Given the description of an element on the screen output the (x, y) to click on. 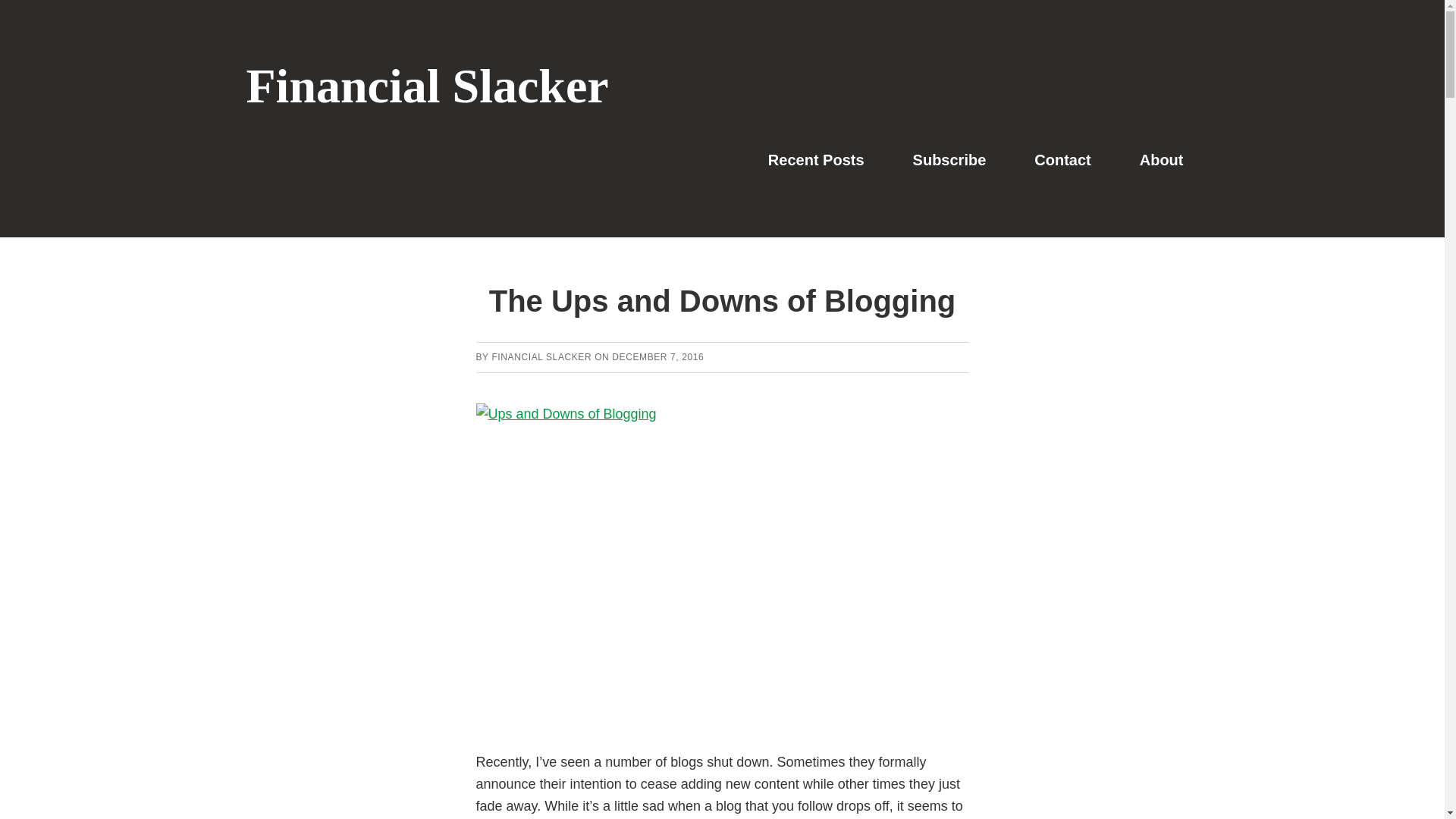
Recent Posts (816, 159)
About (1161, 159)
Subscribe (949, 159)
Contact (1062, 159)
Financial Slacker (421, 86)
FINANCIAL SLACKER (541, 357)
